Given the description of an element on the screen output the (x, y) to click on. 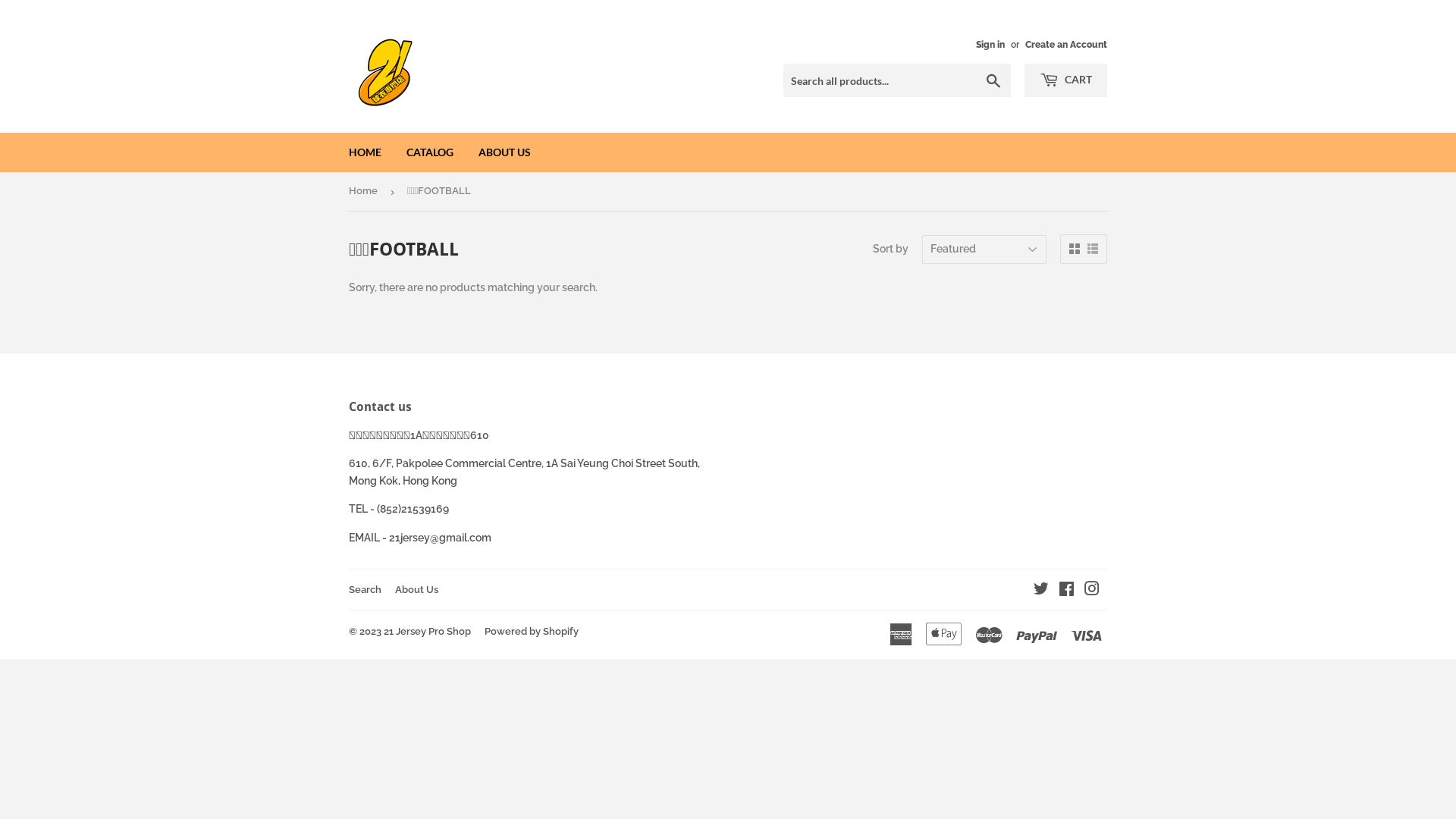
List view Element type: hover (1092, 248)
21 Jersey Pro Shop Element type: text (426, 631)
ABOUT US Element type: text (504, 152)
Twitter Element type: text (1040, 590)
HOME Element type: text (364, 152)
Powered by Shopify Element type: text (531, 631)
Home Element type: text (365, 191)
CART Element type: text (1065, 80)
Search Element type: text (993, 81)
Create an Account Element type: text (1066, 44)
CATALOG Element type: text (429, 152)
Facebook Element type: text (1066, 590)
Sign in Element type: text (989, 44)
About Us Element type: text (416, 589)
Grid view Element type: hover (1074, 248)
Instagram Element type: text (1091, 590)
Search Element type: text (364, 589)
